Given the description of an element on the screen output the (x, y) to click on. 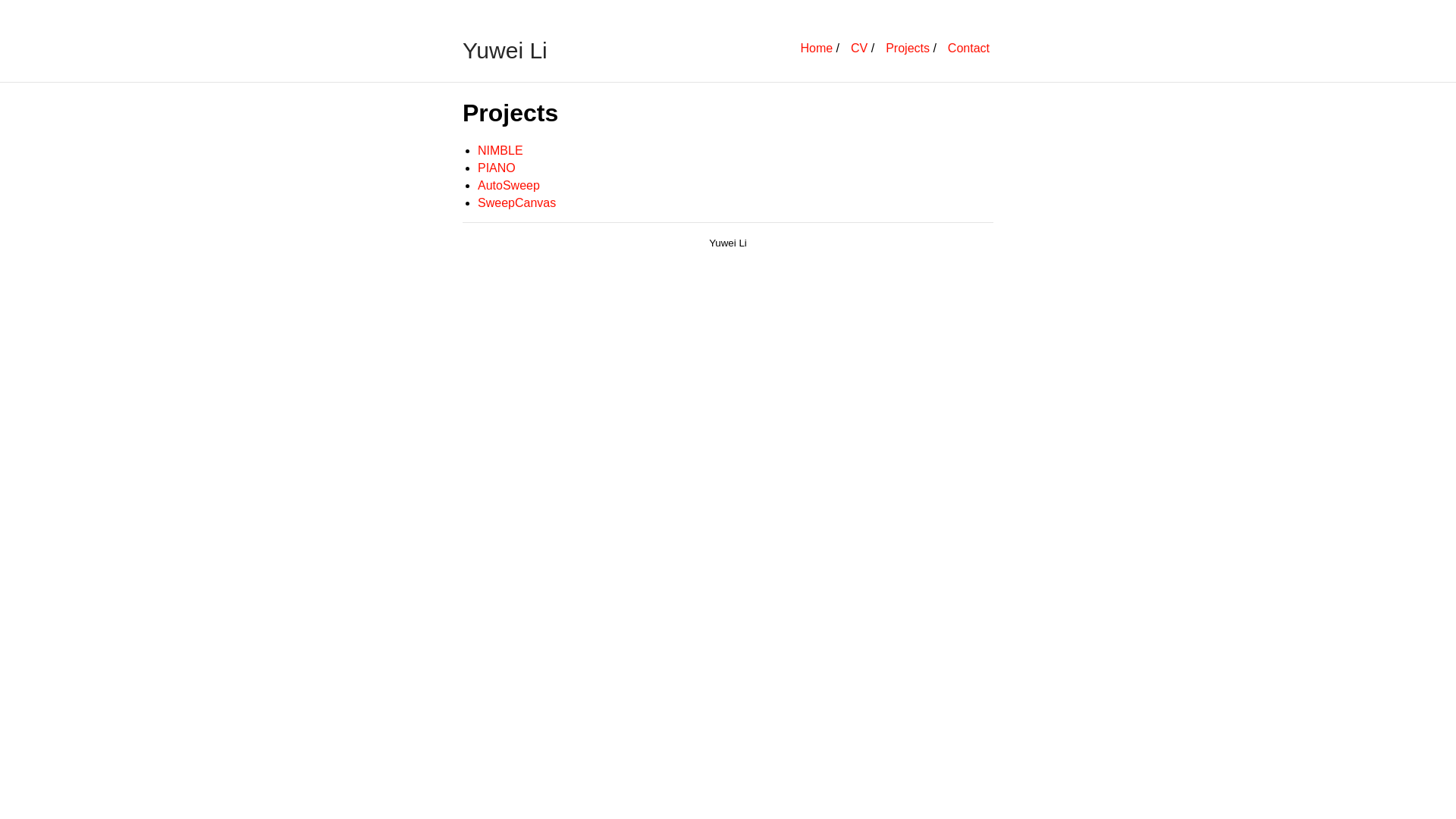
AutoSweep Element type: text (508, 184)
Home Element type: text (816, 47)
Yuwei Li Element type: text (727, 241)
Projects Element type: text (907, 47)
PIANO Element type: text (496, 167)
SweepCanvas Element type: text (516, 202)
NIMBLE Element type: text (500, 150)
CV Element type: text (858, 47)
Contact Element type: text (968, 47)
Yuwei Li Element type: text (504, 50)
